Given the description of an element on the screen output the (x, y) to click on. 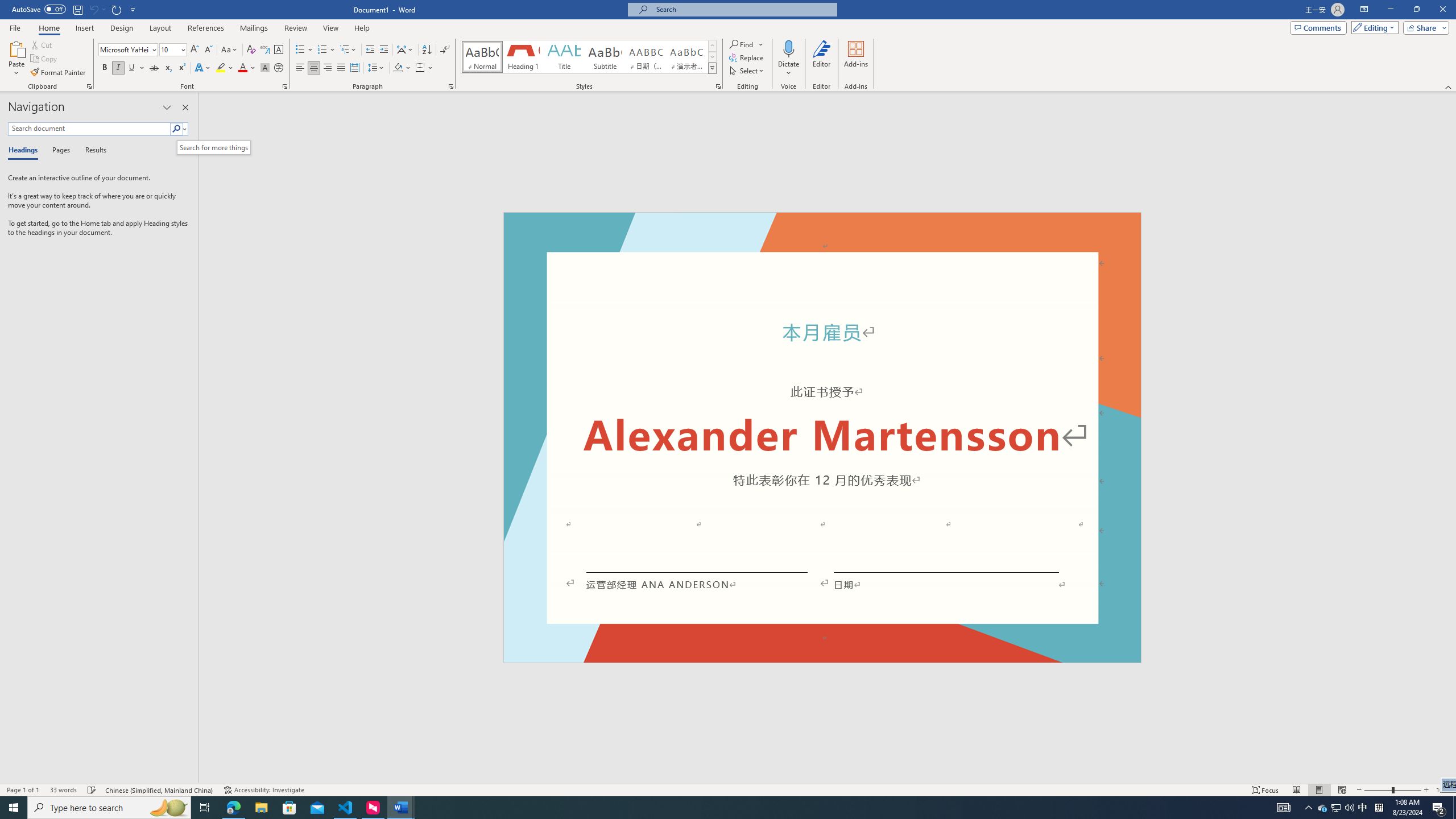
Can't Undo (92, 9)
Page 1 content (822, 445)
Can't Undo (96, 9)
Page Number Page 1 of 1 (22, 790)
